Given the description of an element on the screen output the (x, y) to click on. 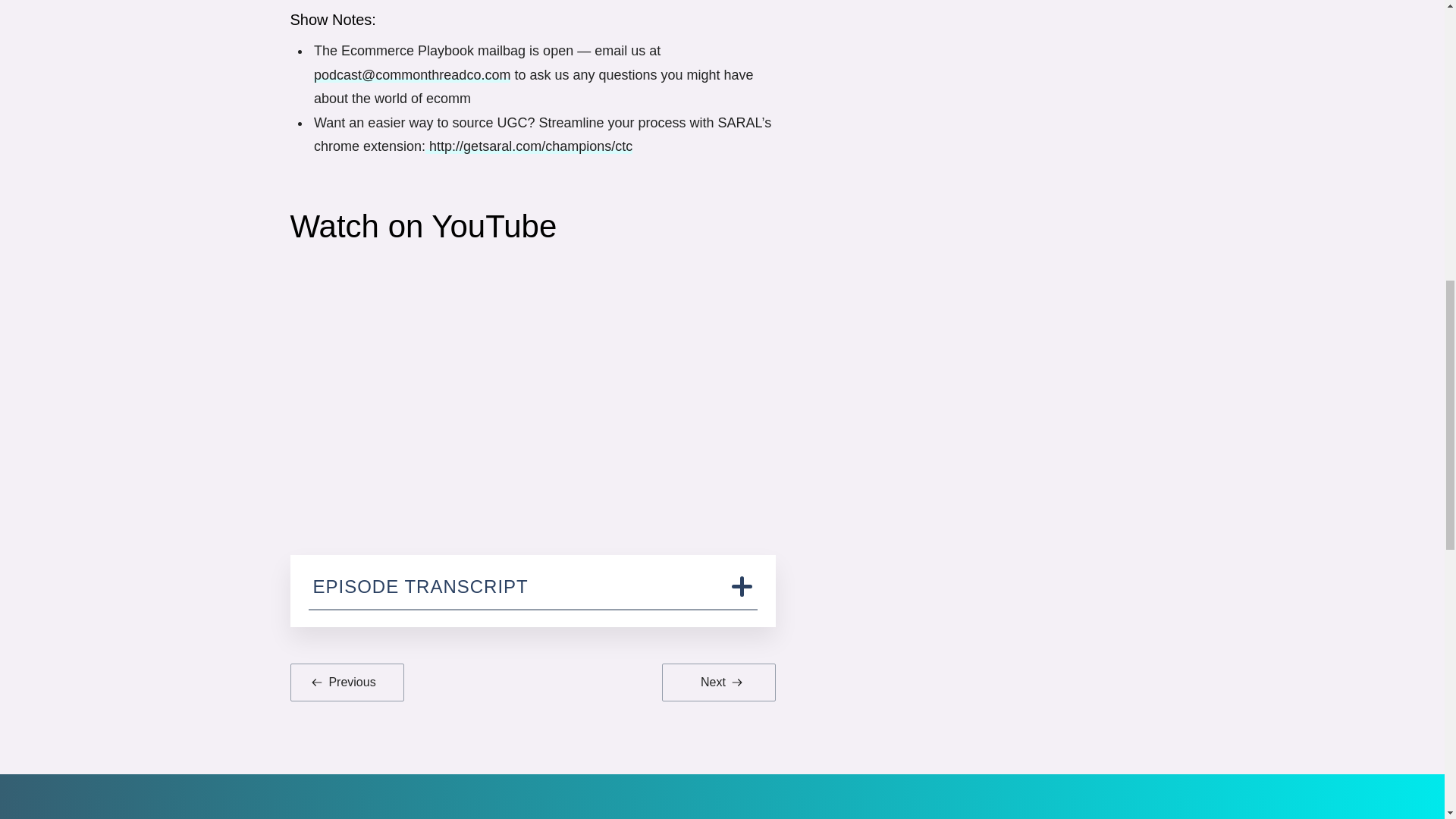
Previous (346, 682)
Next (717, 682)
YouTube video player (532, 381)
EPISODE TRANSCRIPT (532, 591)
